Given the description of an element on the screen output the (x, y) to click on. 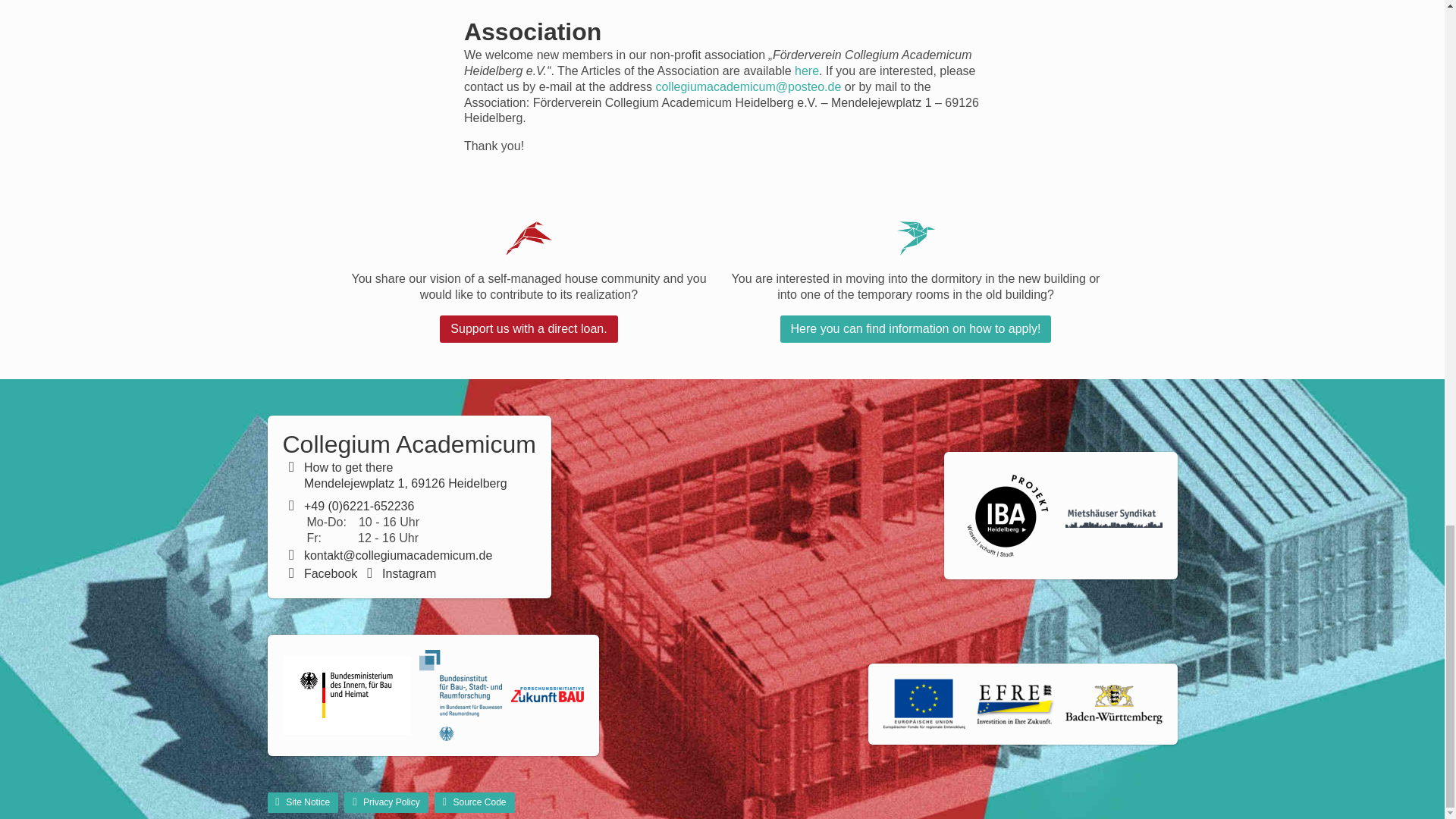
here (806, 70)
Support us with a direct loan. (528, 329)
Here you can find information on how to apply! (915, 329)
